Given the description of an element on the screen output the (x, y) to click on. 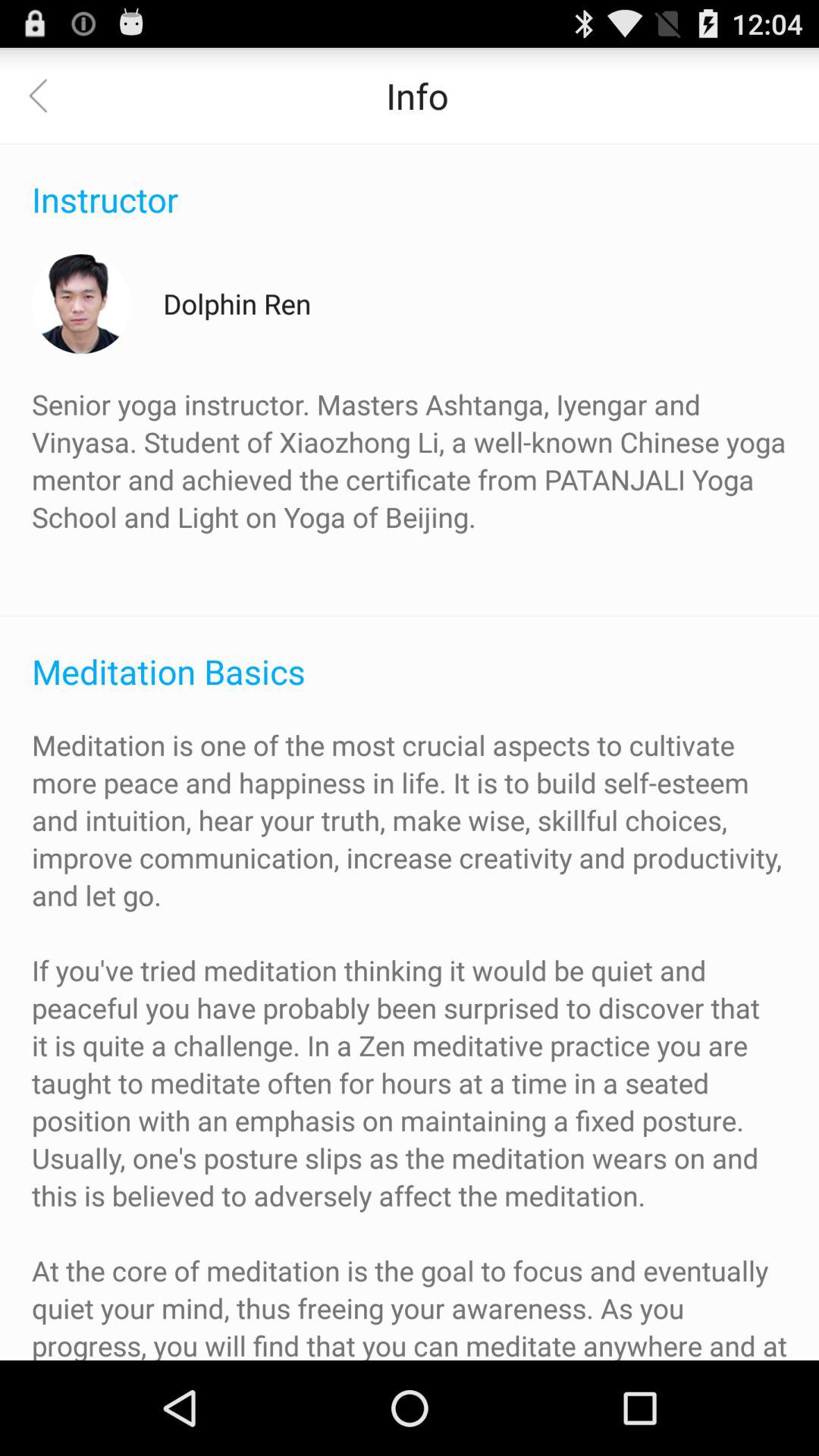
press the item to the left of info item (47, 95)
